Given the description of an element on the screen output the (x, y) to click on. 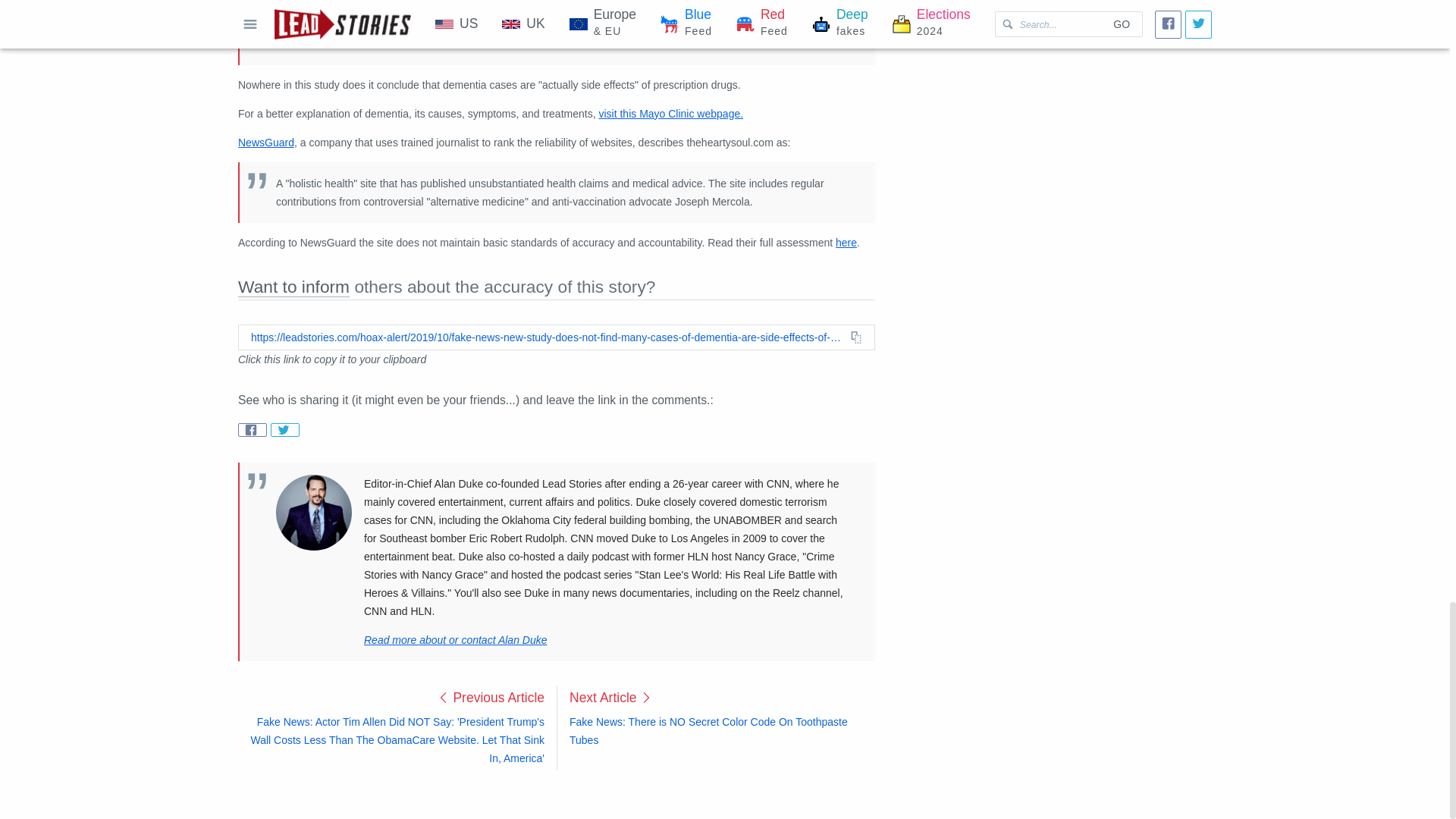
here (846, 242)
NewsGuard (266, 142)
visit this Mayo Clinic webpage. (670, 113)
Read more about or contact Alan Duke (455, 639)
